Given the description of an element on the screen output the (x, y) to click on. 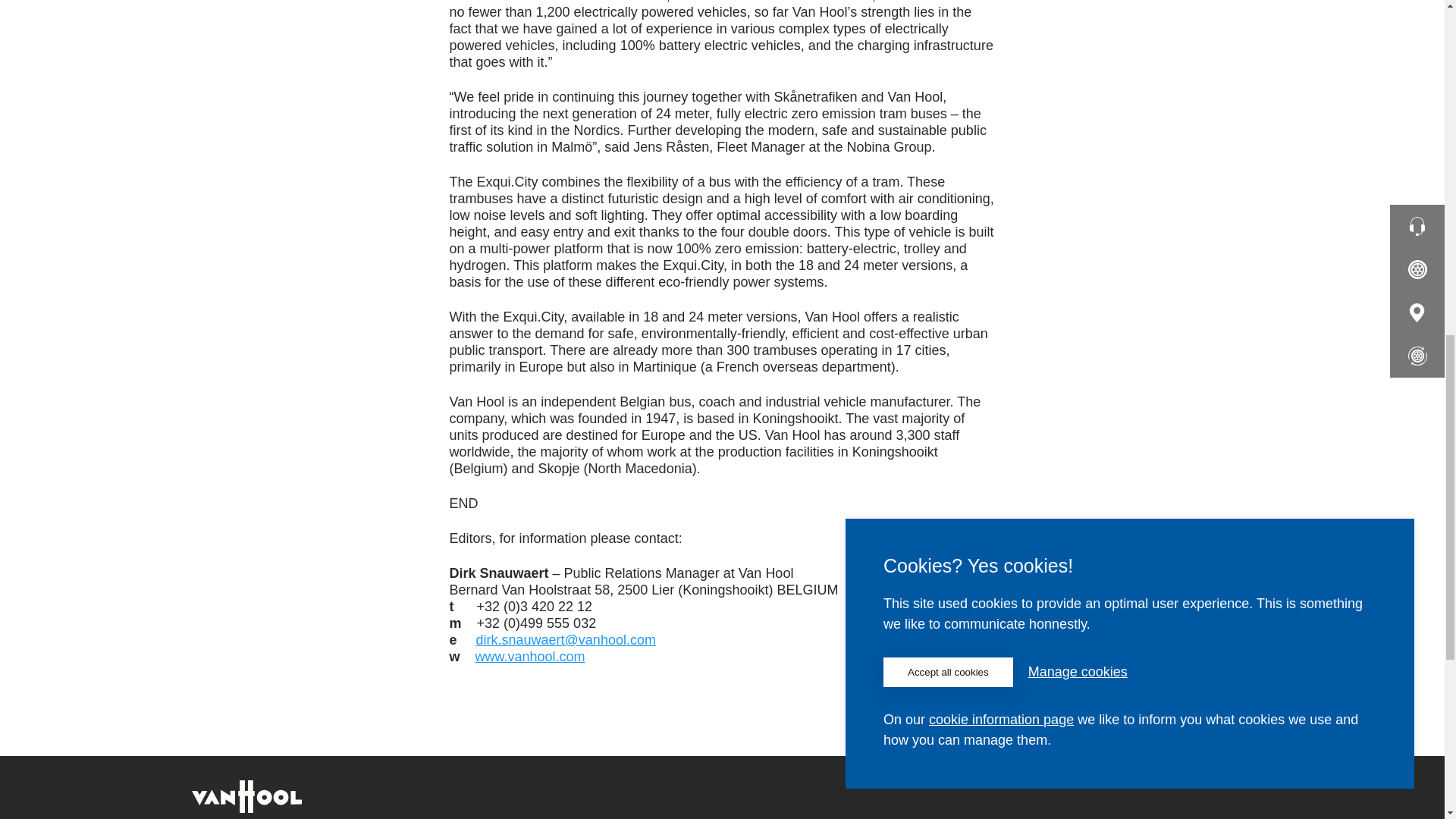
www.vanhool.com (530, 656)
